Given the description of an element on the screen output the (x, y) to click on. 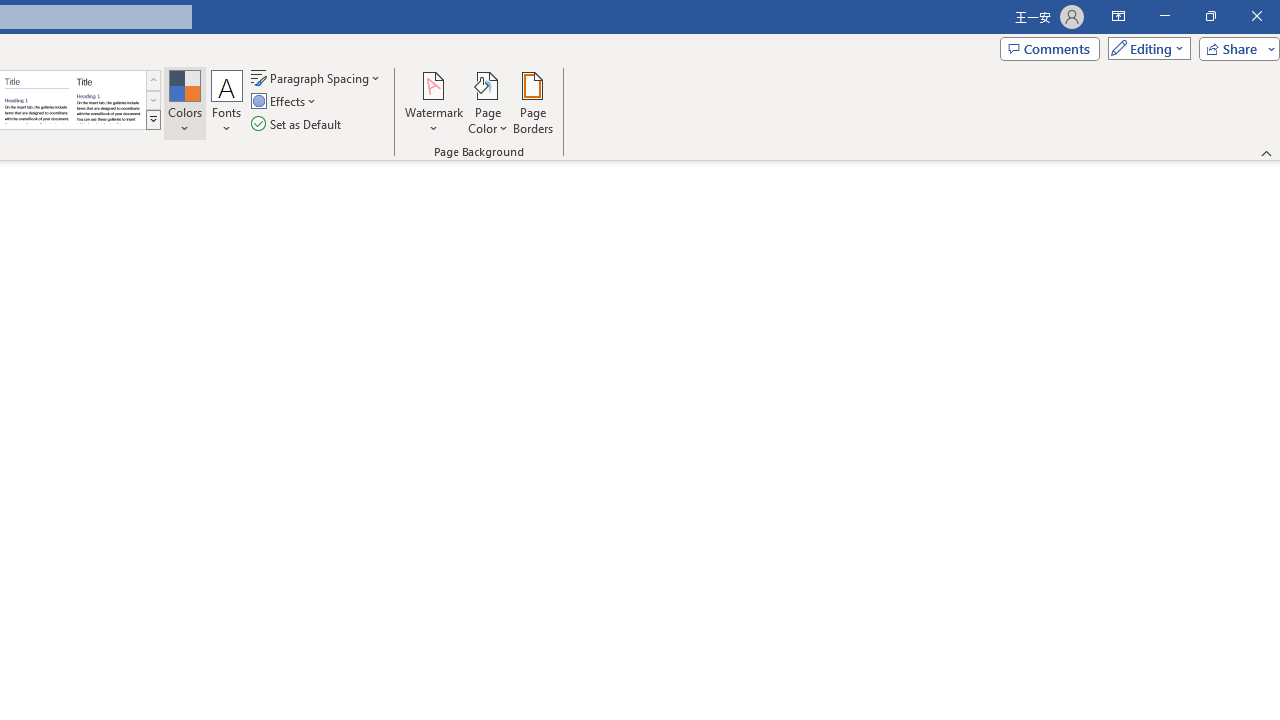
Row up (153, 79)
Word 2010 (36, 100)
Style Set (153, 120)
Watermark (434, 102)
Fonts (227, 102)
